Given the description of an element on the screen output the (x, y) to click on. 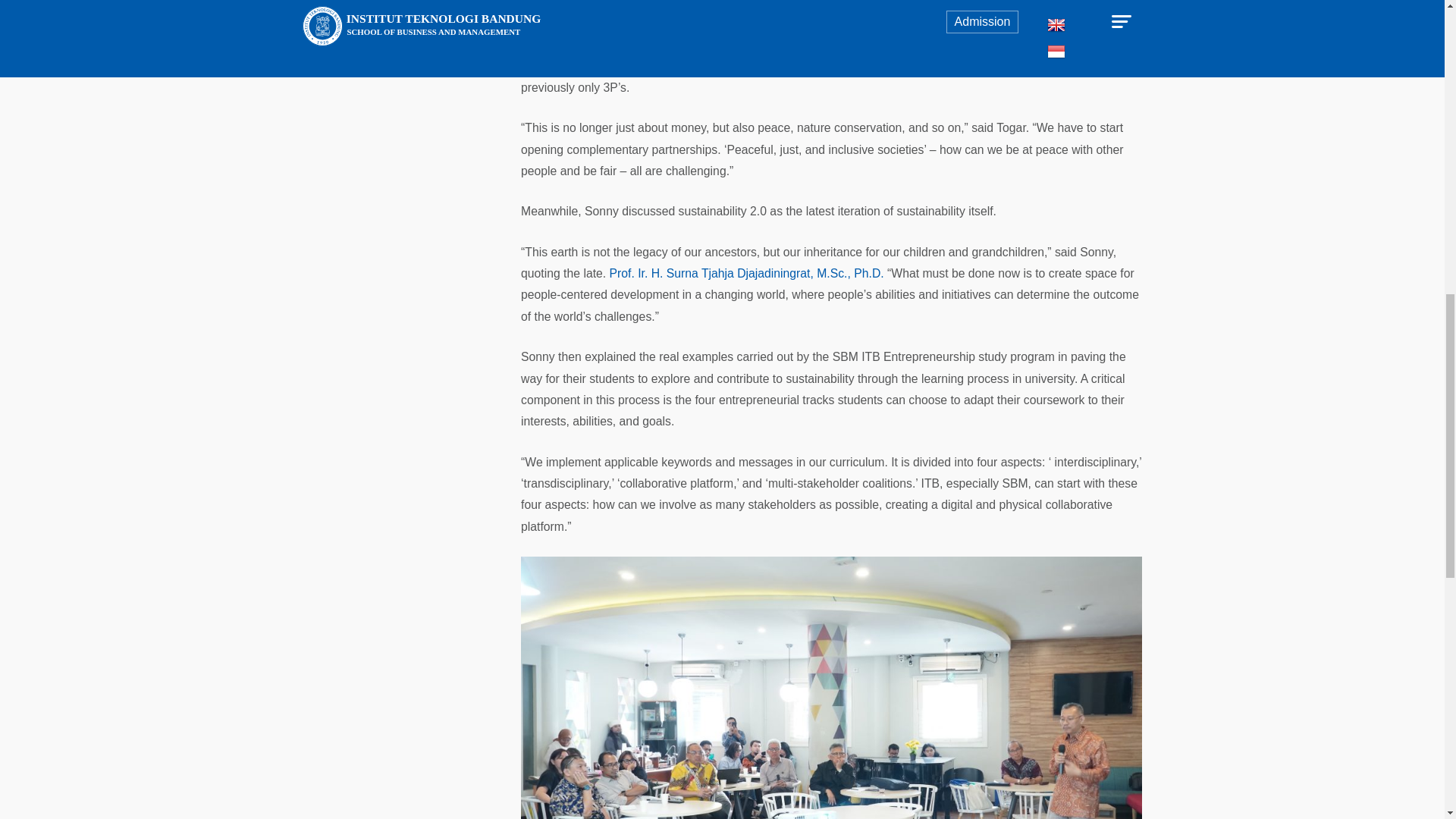
Prof. Ir. H. Surna Tjahja Djajadiningrat, M.Sc., Ph.D. (746, 273)
